Given the description of an element on the screen output the (x, y) to click on. 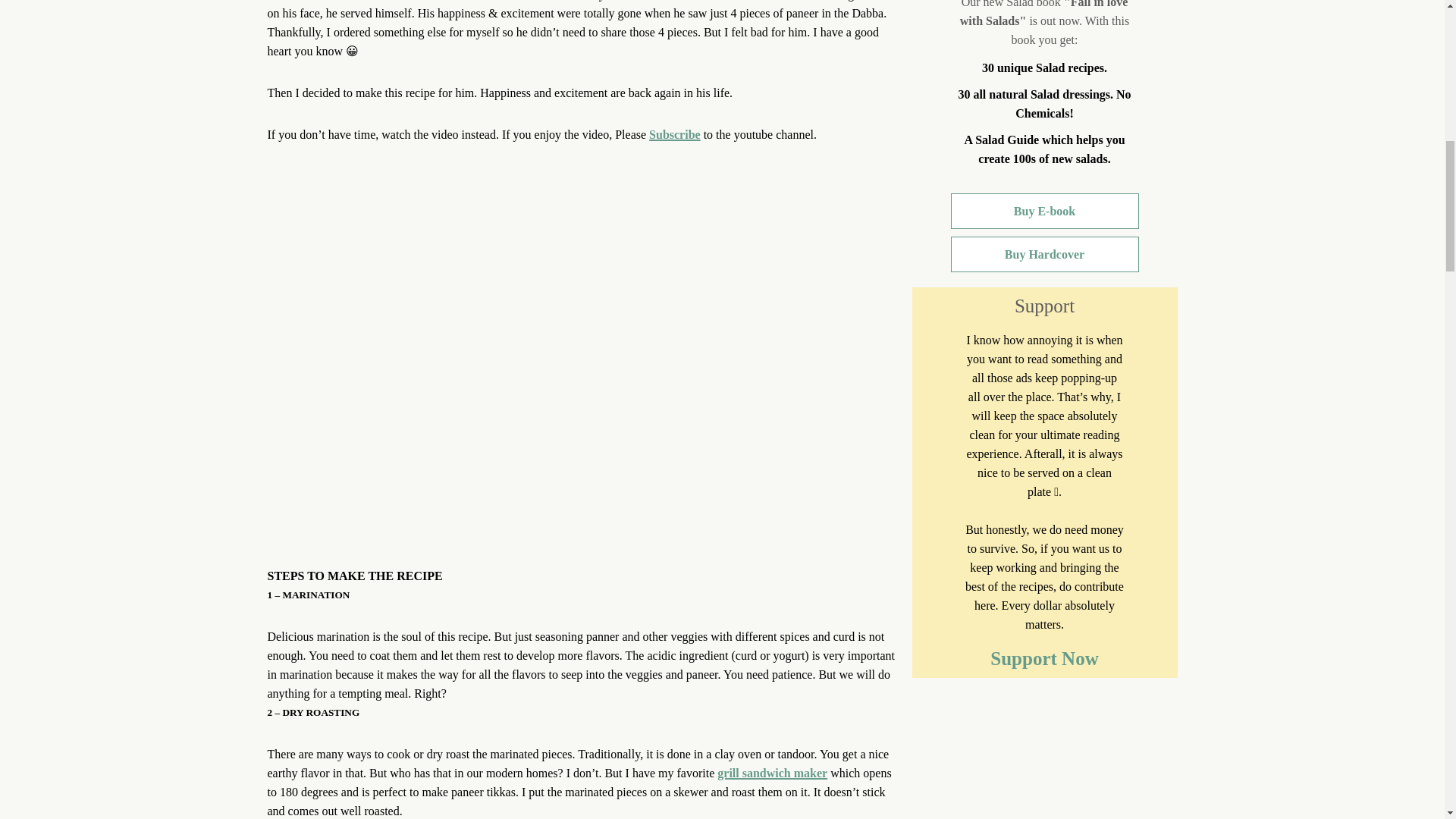
Support Now (1043, 658)
grill sandwich maker (772, 772)
Subscribe (674, 133)
Buy E-book (1044, 210)
Buy Hardcover (1044, 253)
